Given the description of an element on the screen output the (x, y) to click on. 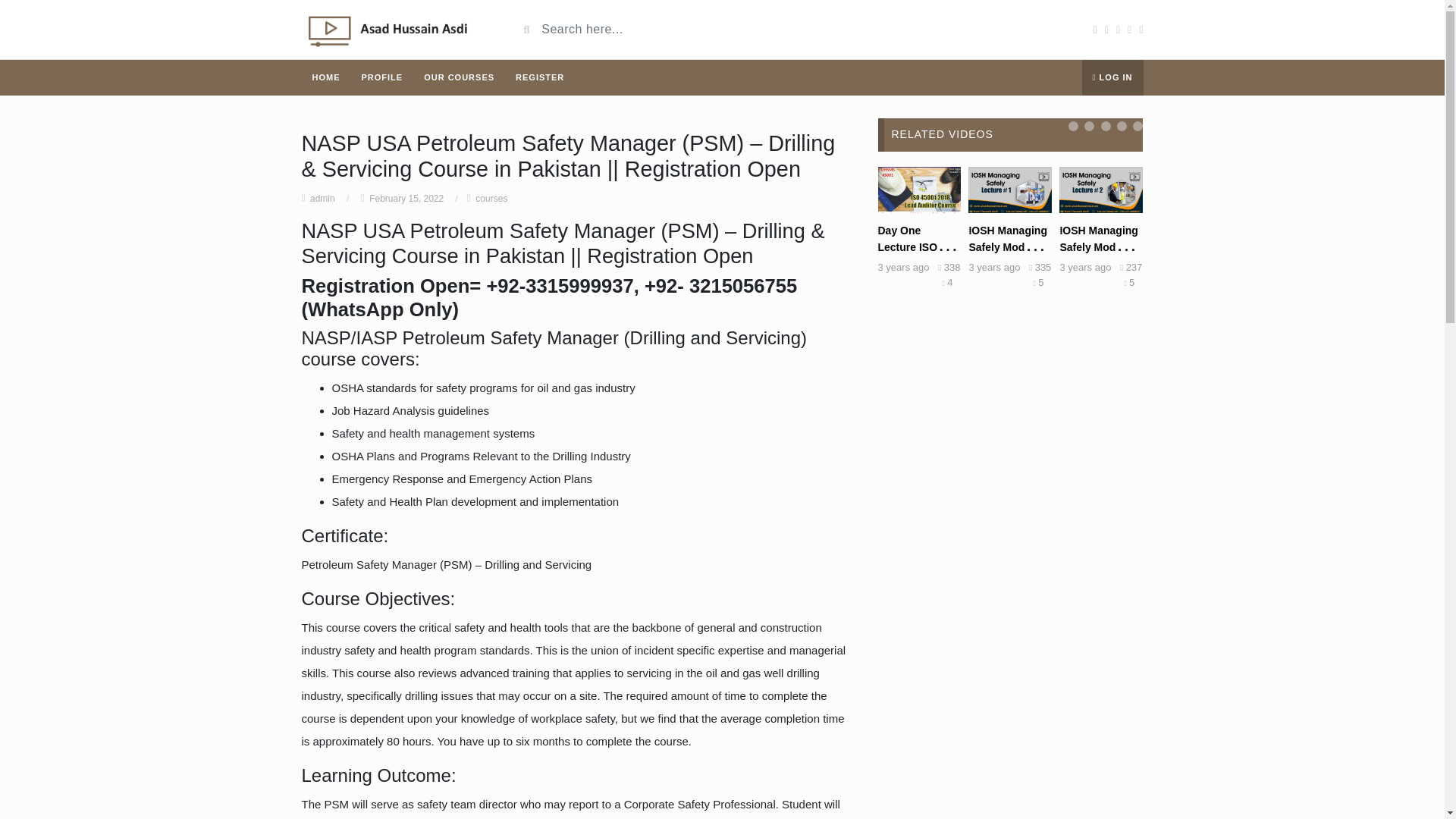
OUR COURSES (459, 77)
Our Courses (459, 77)
Profile (381, 77)
admin (322, 198)
LOG IN (1111, 77)
REGISTER (540, 77)
courses (491, 198)
PROFILE (381, 77)
Log in (1111, 77)
Video Lectures (398, 29)
Register (540, 77)
Home (325, 77)
HOME (325, 77)
